Given the description of an element on the screen output the (x, y) to click on. 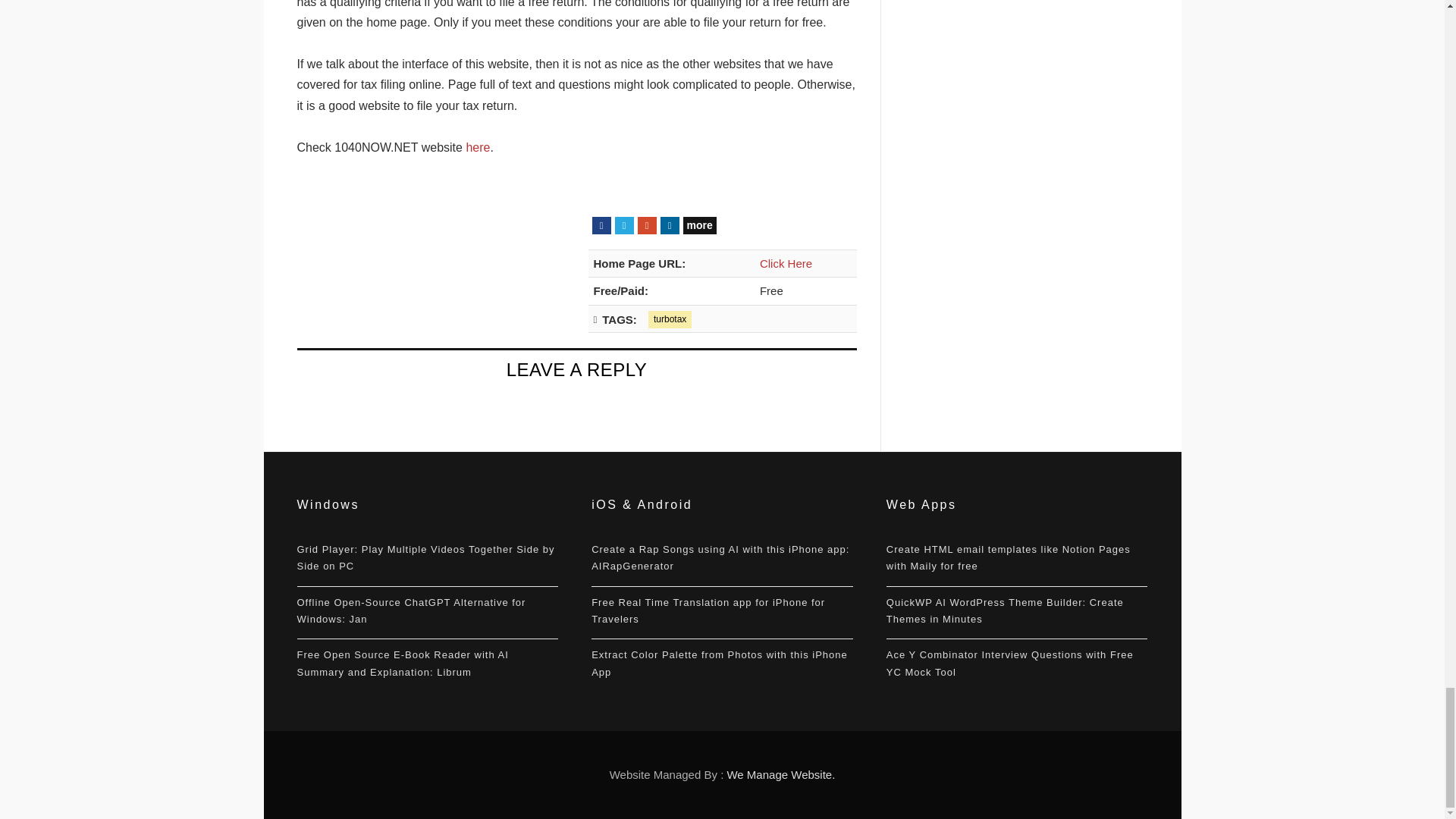
Tweet It (623, 225)
Share on Facebook (600, 225)
Share on LinkedIn (668, 225)
